Given the description of an element on the screen output the (x, y) to click on. 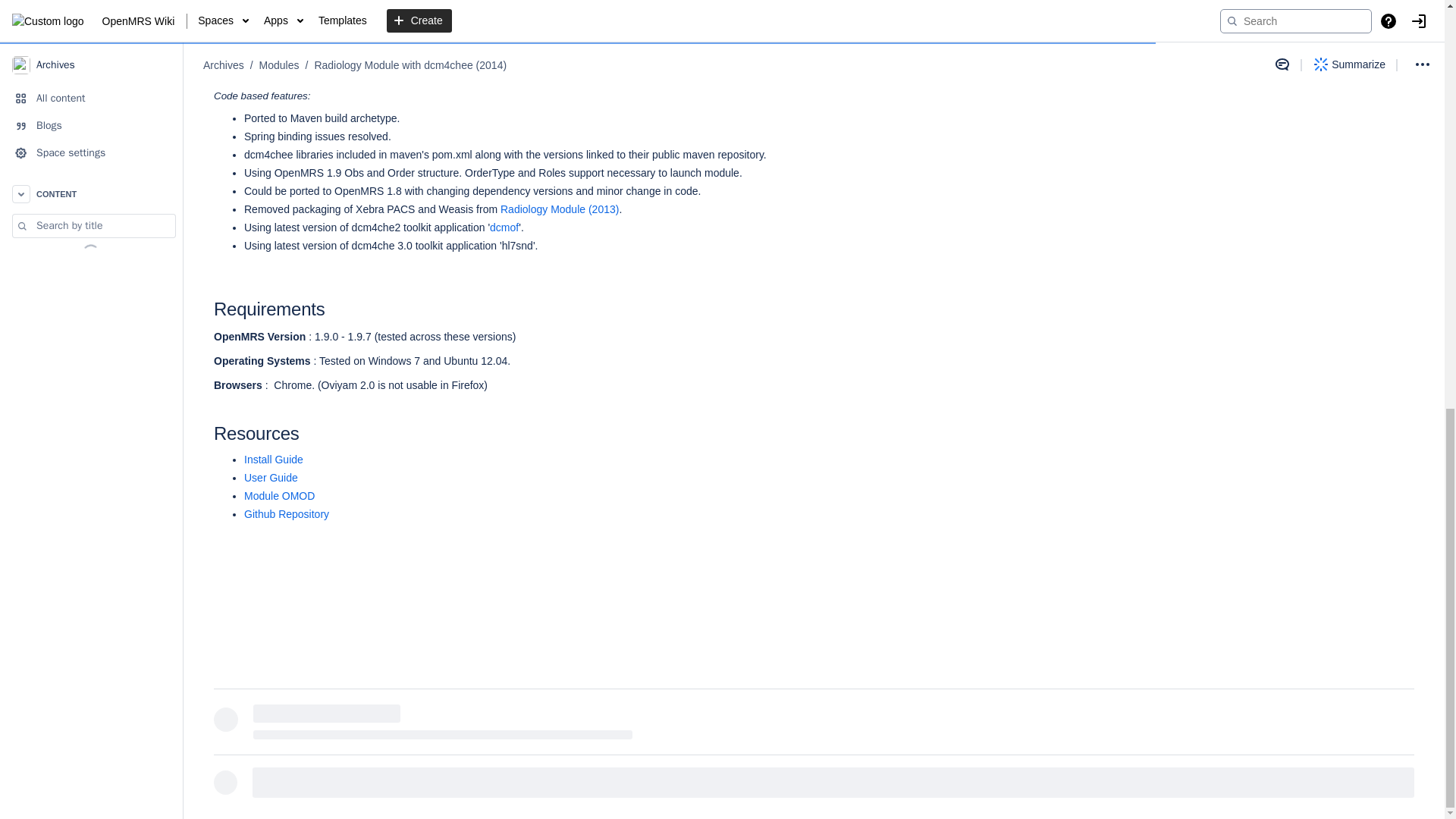
Weasis (712, 70)
Oviyam (604, 70)
Github Repository (286, 513)
Install Guide (273, 459)
Module OMOD (279, 495)
dcmof (503, 227)
User Guide (271, 477)
